Given the description of an element on the screen output the (x, y) to click on. 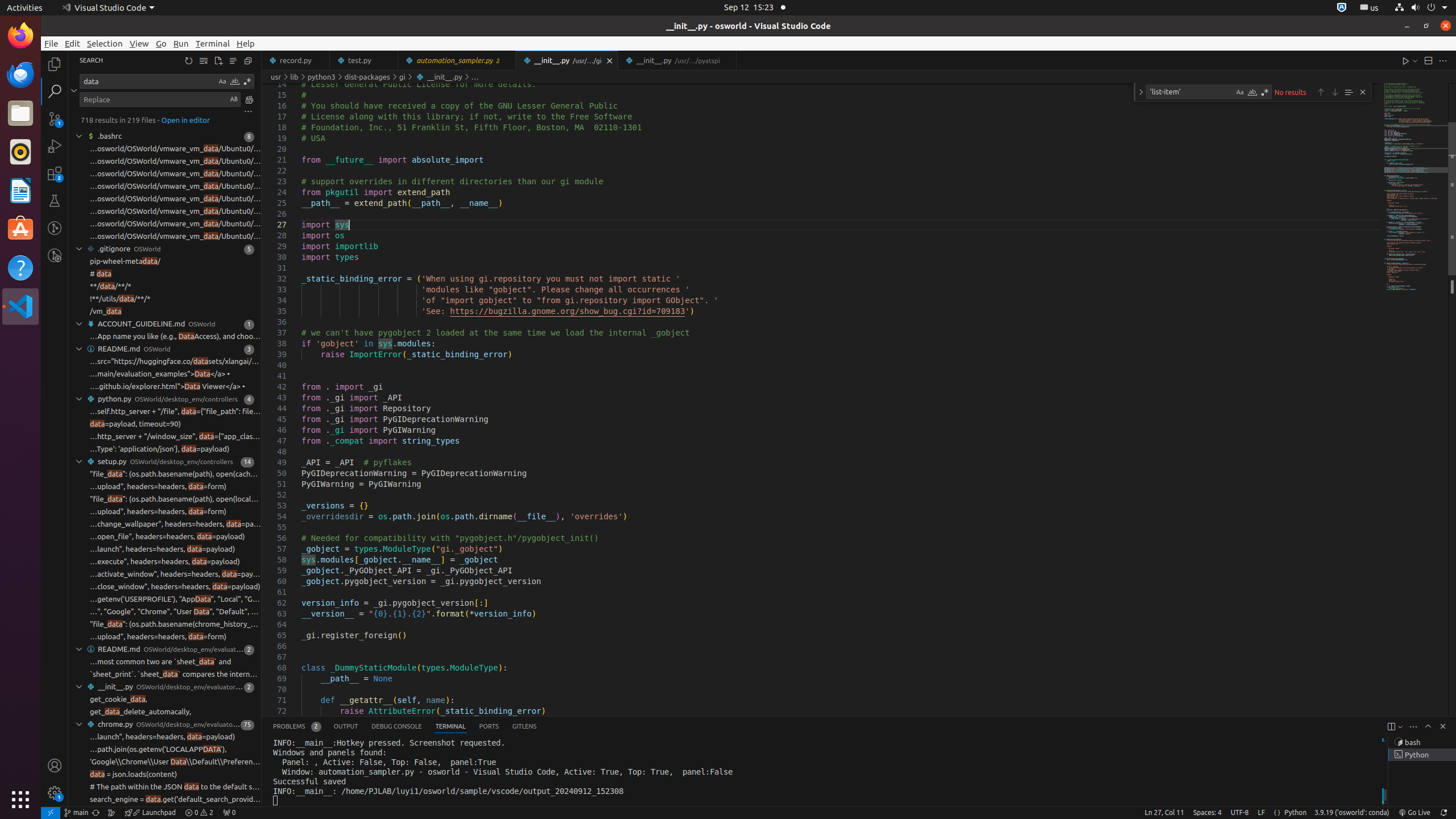
Manage - New Code update available. Element type: push-button (54, 792)
' response = requests.post(self.http_server + "/setup" + "/open_file", headers=headers, data=payload)' at column 99 found data Element type: tree-item (164, 536)
Find in Selection (Alt+L) Element type: check-box (1348, 91)
data = json.loads(content) Element type: link (133, 773)
…open_file", headers=headers, data=payload) Element type: link (167, 536)
